Given the description of an element on the screen output the (x, y) to click on. 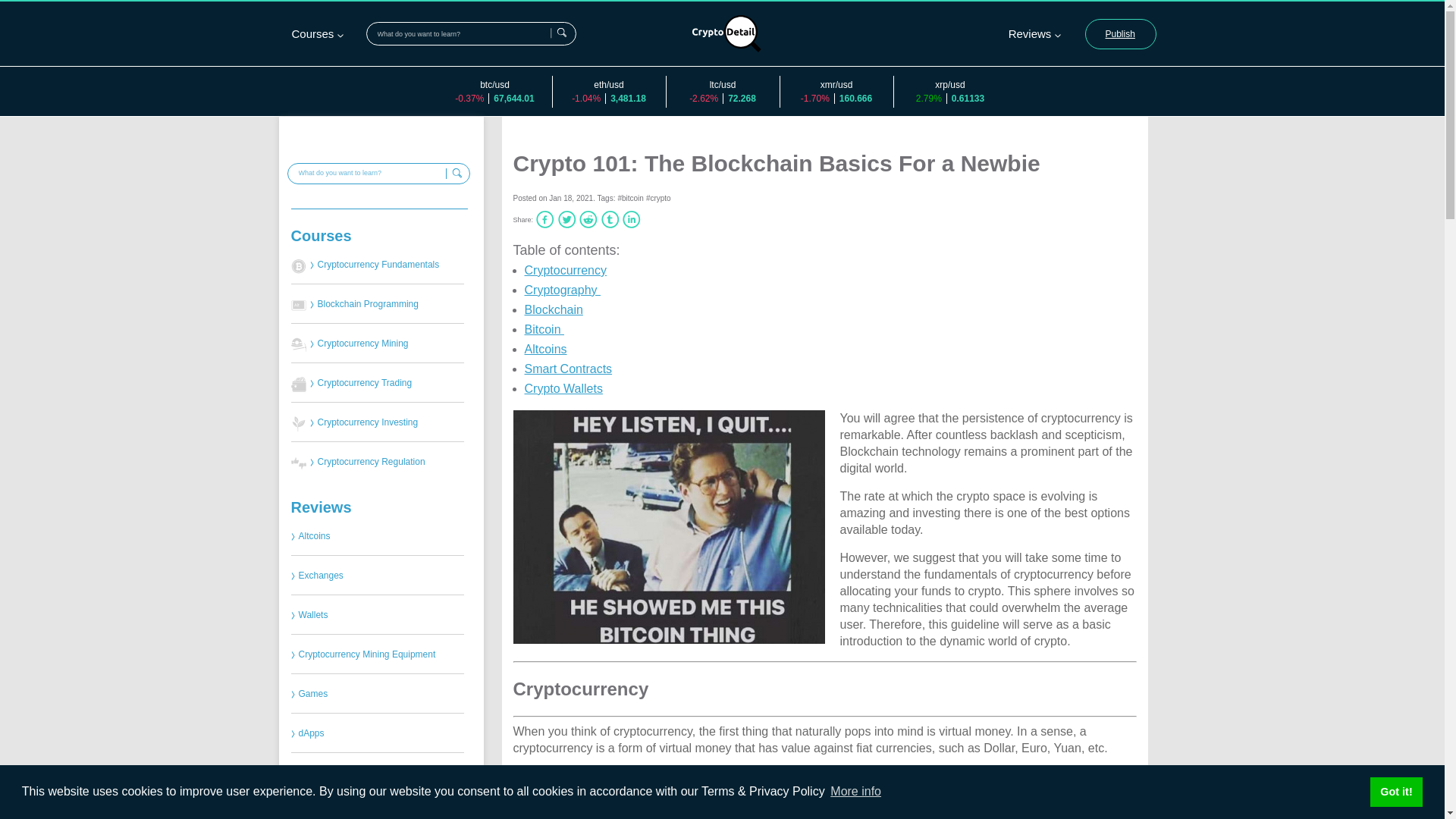
Publish (1120, 33)
Share on Twitter (566, 219)
Share on Tumblr (610, 219)
Blockchain Programming (385, 304)
More info (855, 791)
Share on LinkedIn (631, 219)
Share on Facebook (544, 219)
Search (558, 32)
Crypto 101: The Blockchain Basics For a Newbie (668, 526)
Share on Reddit (587, 219)
Cryptocurrency Fundamentals (385, 265)
Search (453, 173)
Got it! (1396, 791)
Courses (387, 235)
